Given the description of an element on the screen output the (x, y) to click on. 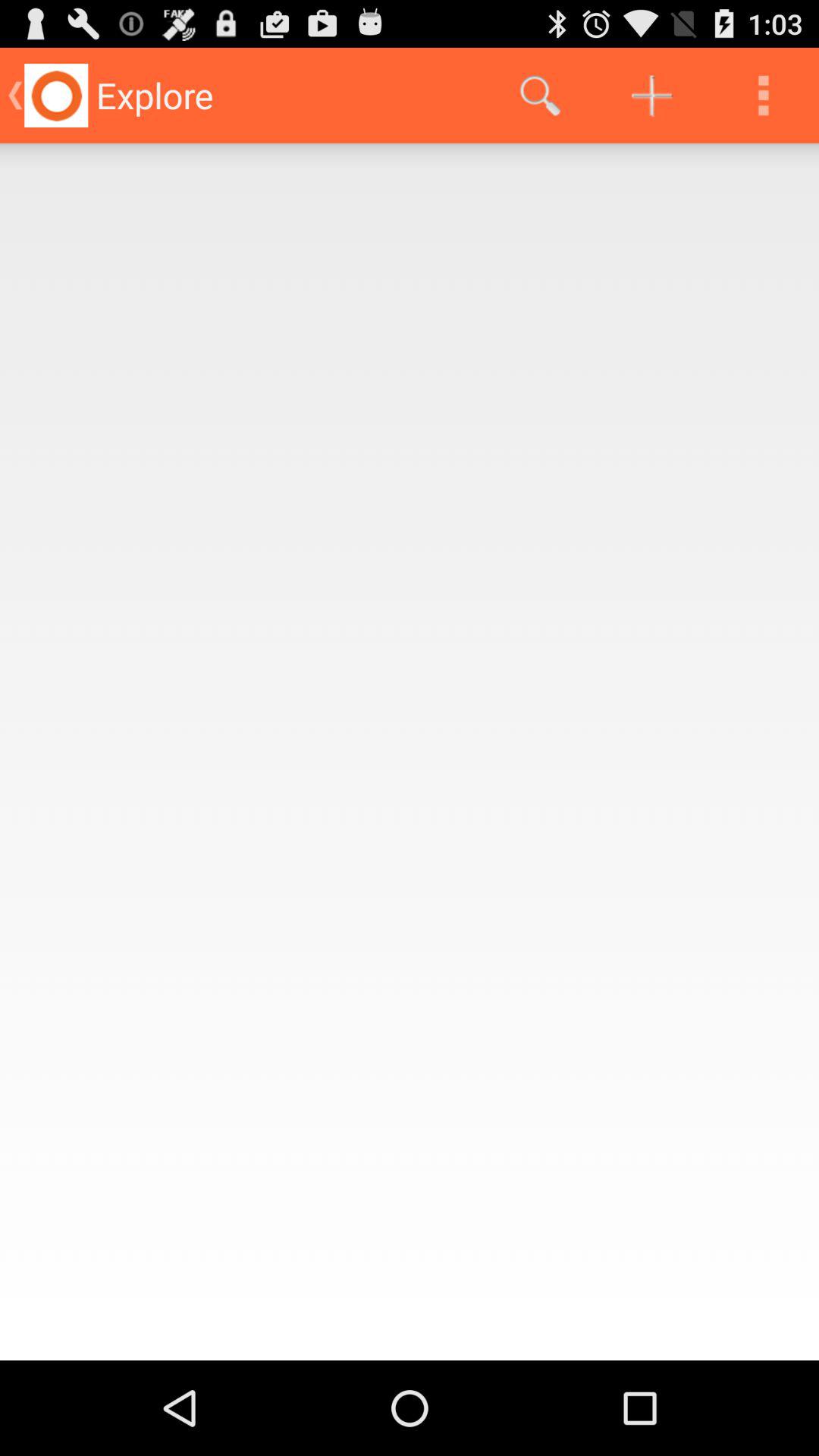
press app to the right of the explore item (540, 95)
